Given the description of an element on the screen output the (x, y) to click on. 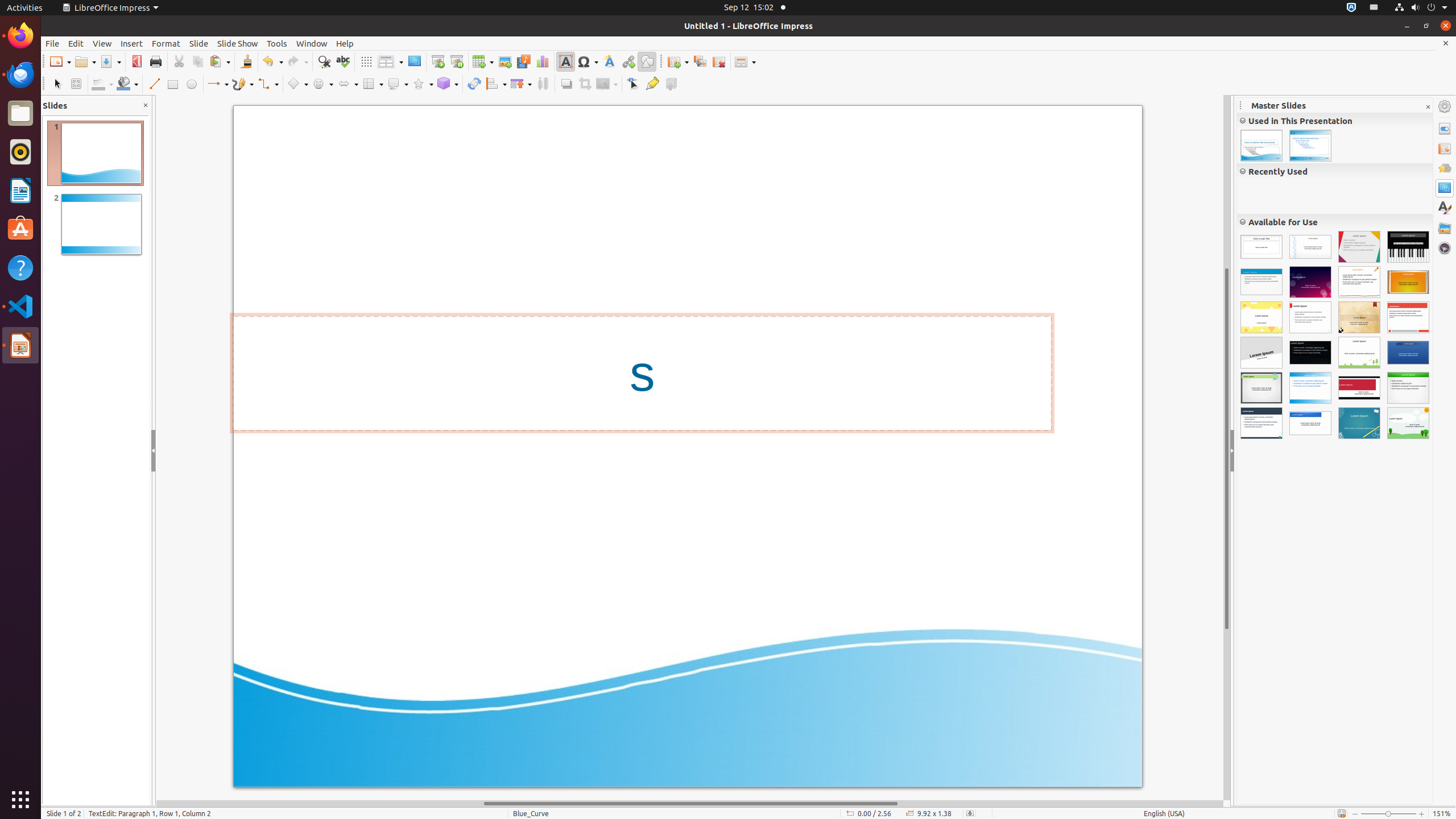
Duplicate Slide Element type: push-button (699, 61)
LibreOffice Impress Element type: menu (109, 7)
Arrange Element type: push-button (520, 83)
Connectors Element type: push-button (267, 83)
Insert Element type: menu (131, 43)
